Given the description of an element on the screen output the (x, y) to click on. 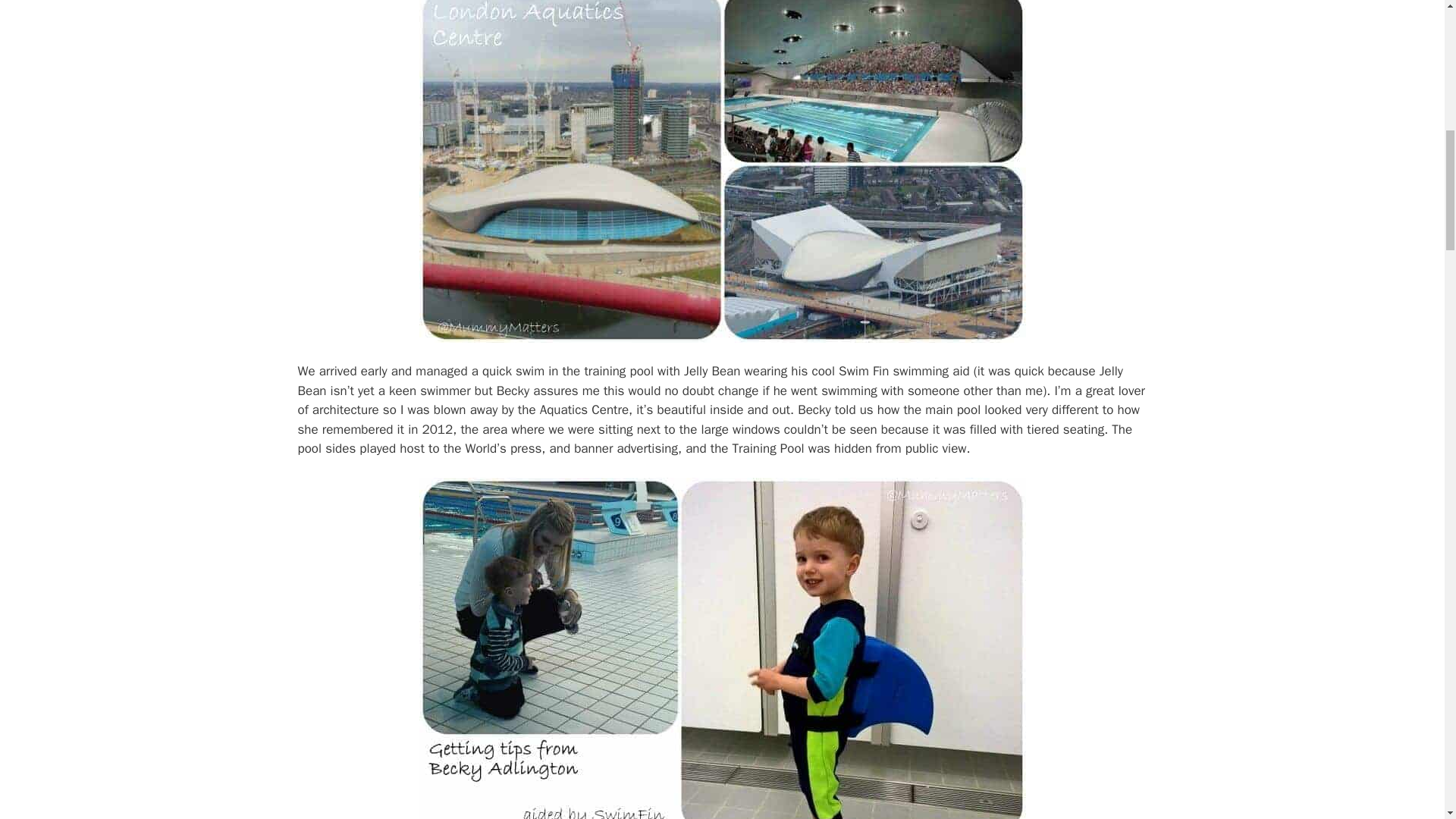
Scroll back to top (1406, 720)
